Given the description of an element on the screen output the (x, y) to click on. 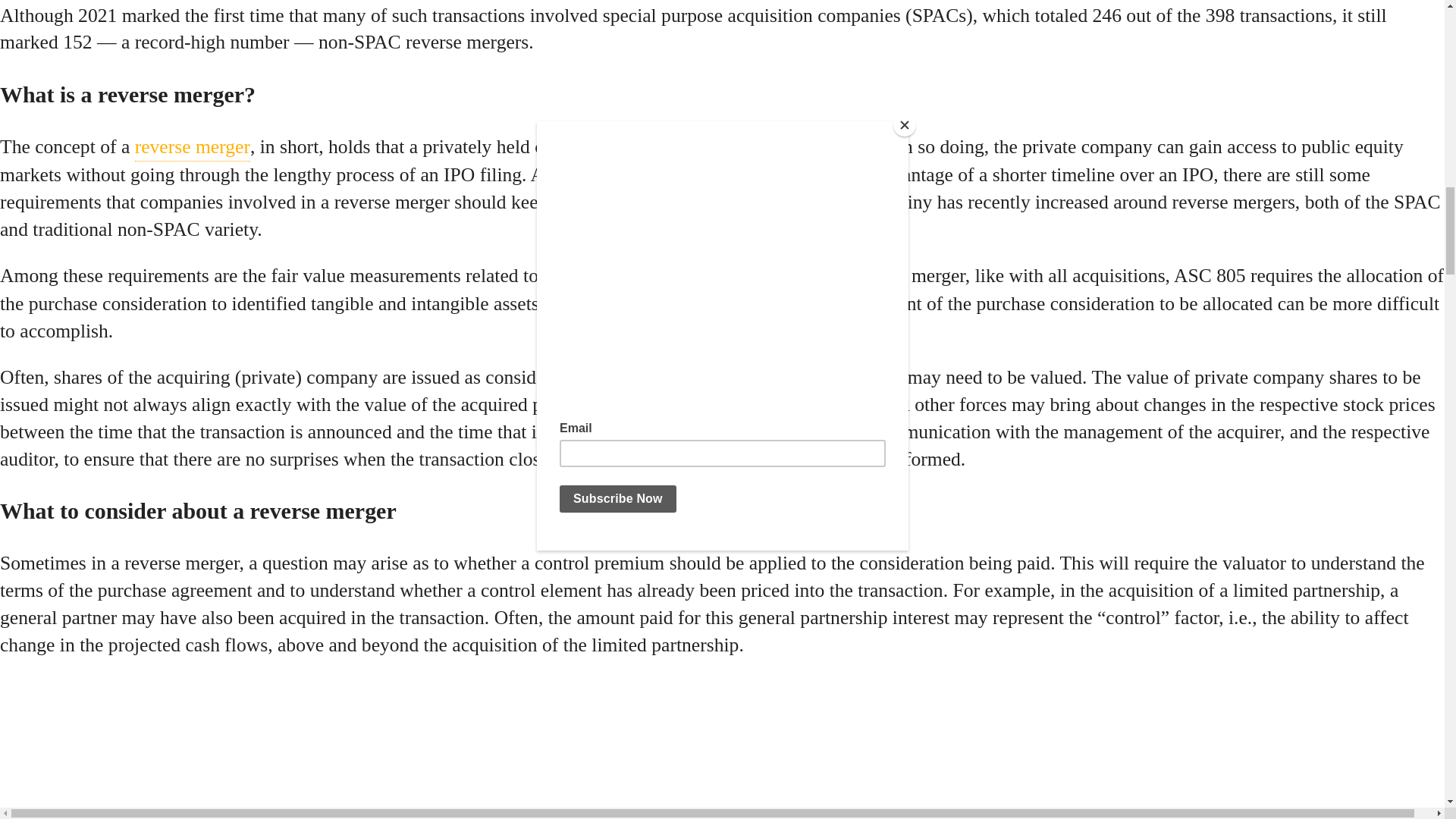
3rd party ad content (113, 748)
reverse merger (192, 147)
ASC 805, Business Combinations (674, 276)
